Given the description of an element on the screen output the (x, y) to click on. 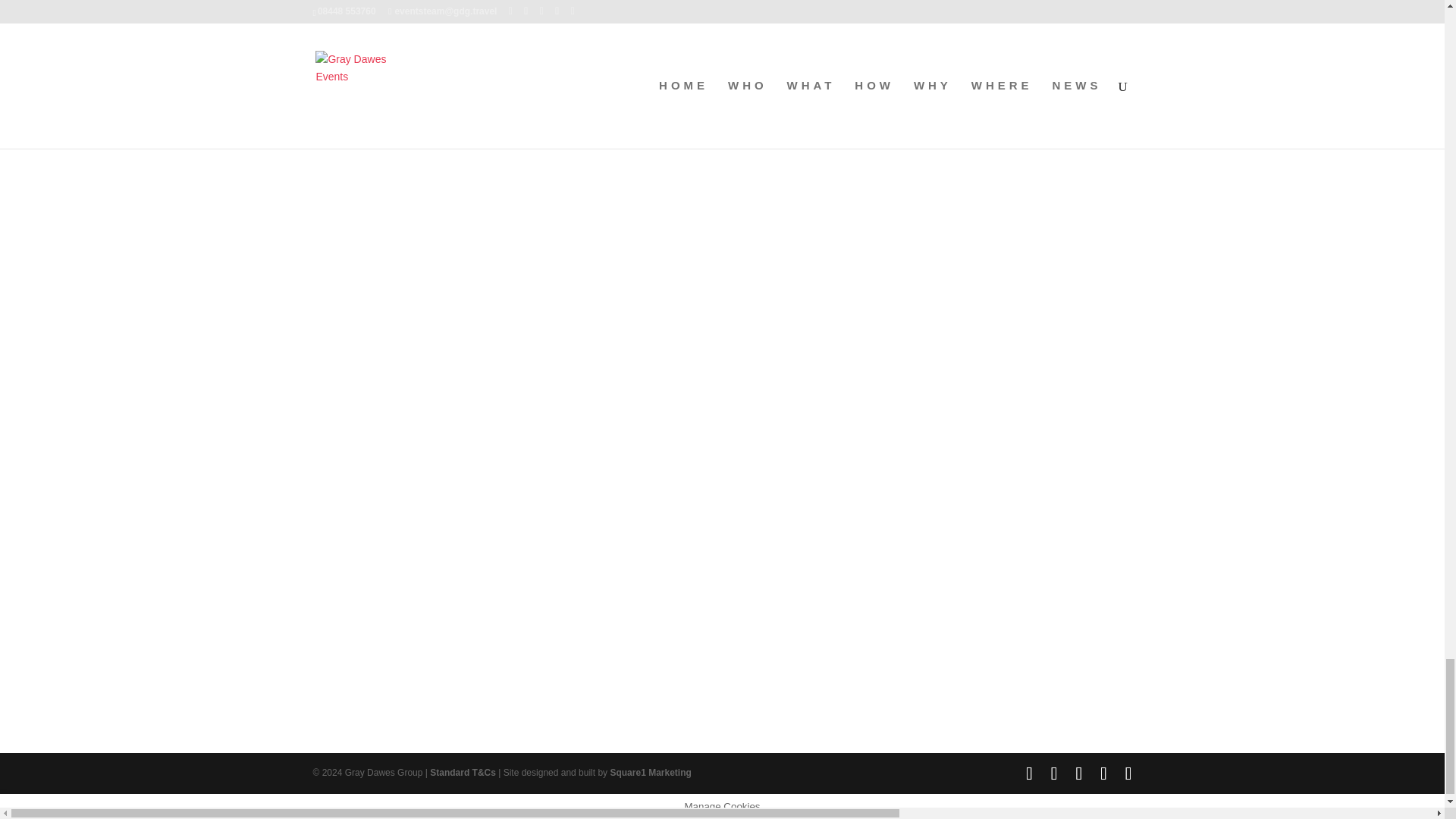
Square1 Marketing (650, 772)
